Given the description of an element on the screen output the (x, y) to click on. 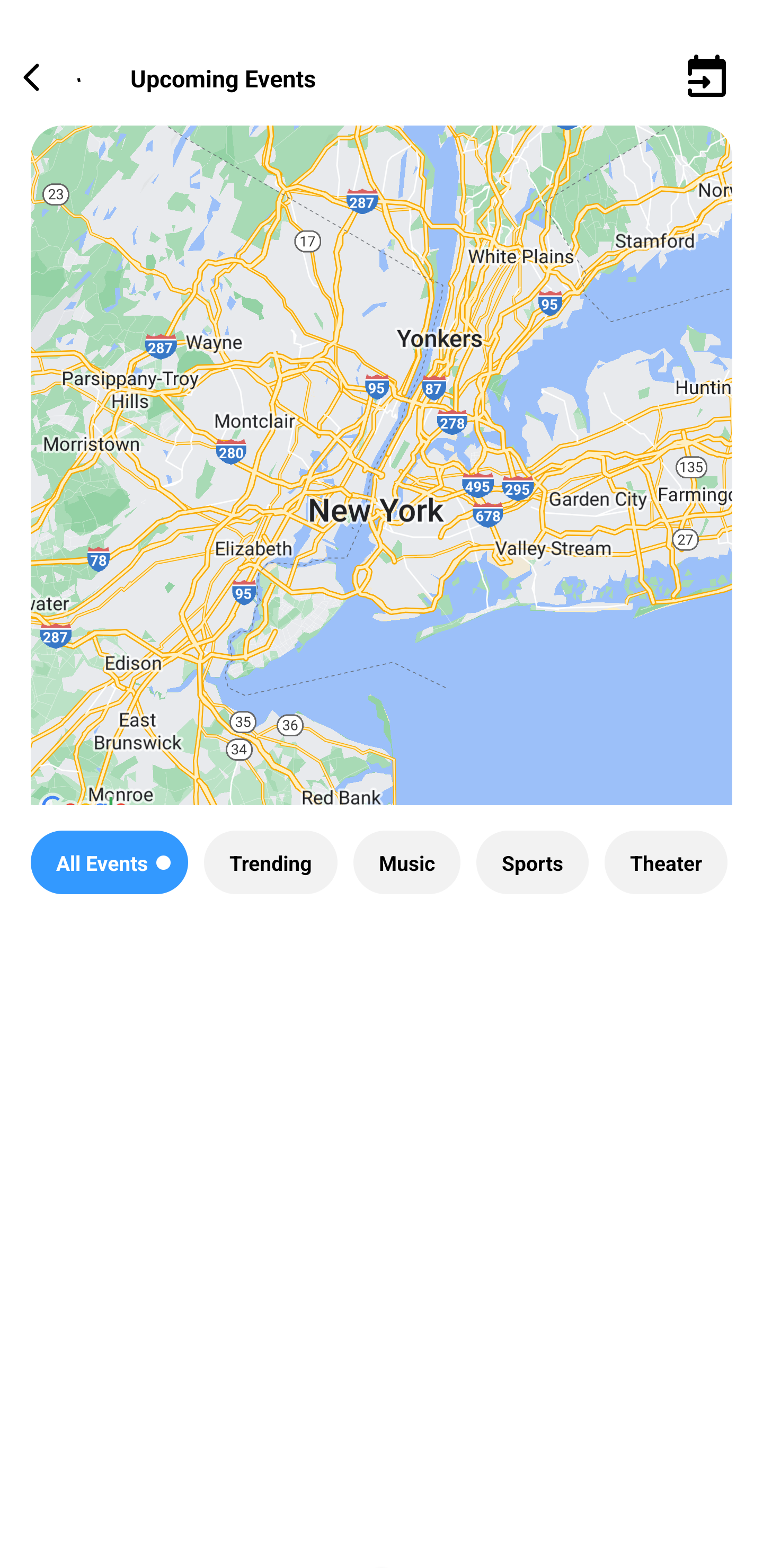
Google Map (381, 480)
All Events (109, 862)
Trending (270, 862)
Music (406, 862)
Sports (532, 862)
Theater (665, 862)
